Given the description of an element on the screen output the (x, y) to click on. 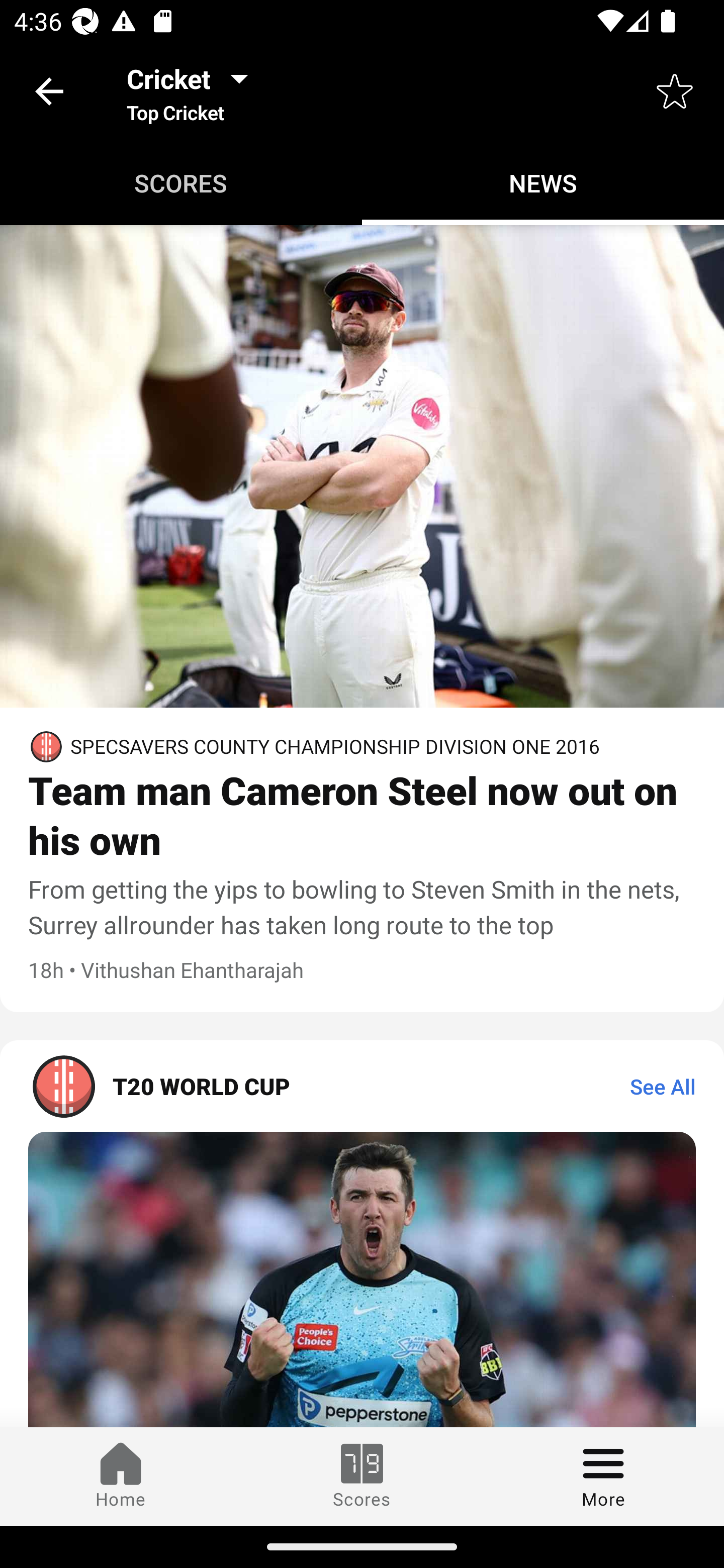
Cricket Top Cricket (193, 90)
Favorite toggle (674, 90)
Scores SCORES (181, 183)
T20 WORLD CUP See All (362, 1085)
Home (120, 1475)
Scores (361, 1475)
